Given the description of an element on the screen output the (x, y) to click on. 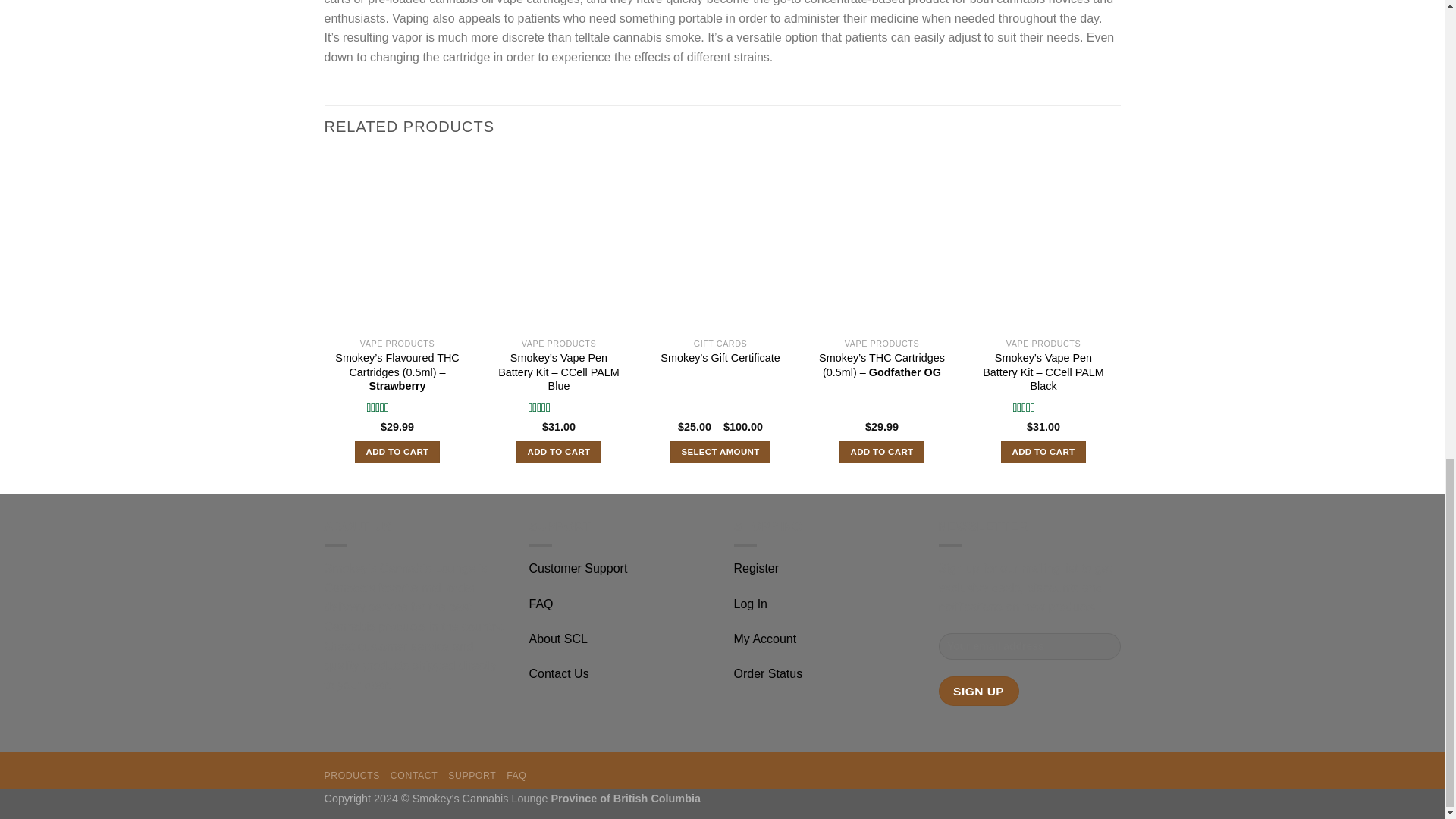
Sign up (979, 690)
